Given the description of an element on the screen output the (x, y) to click on. 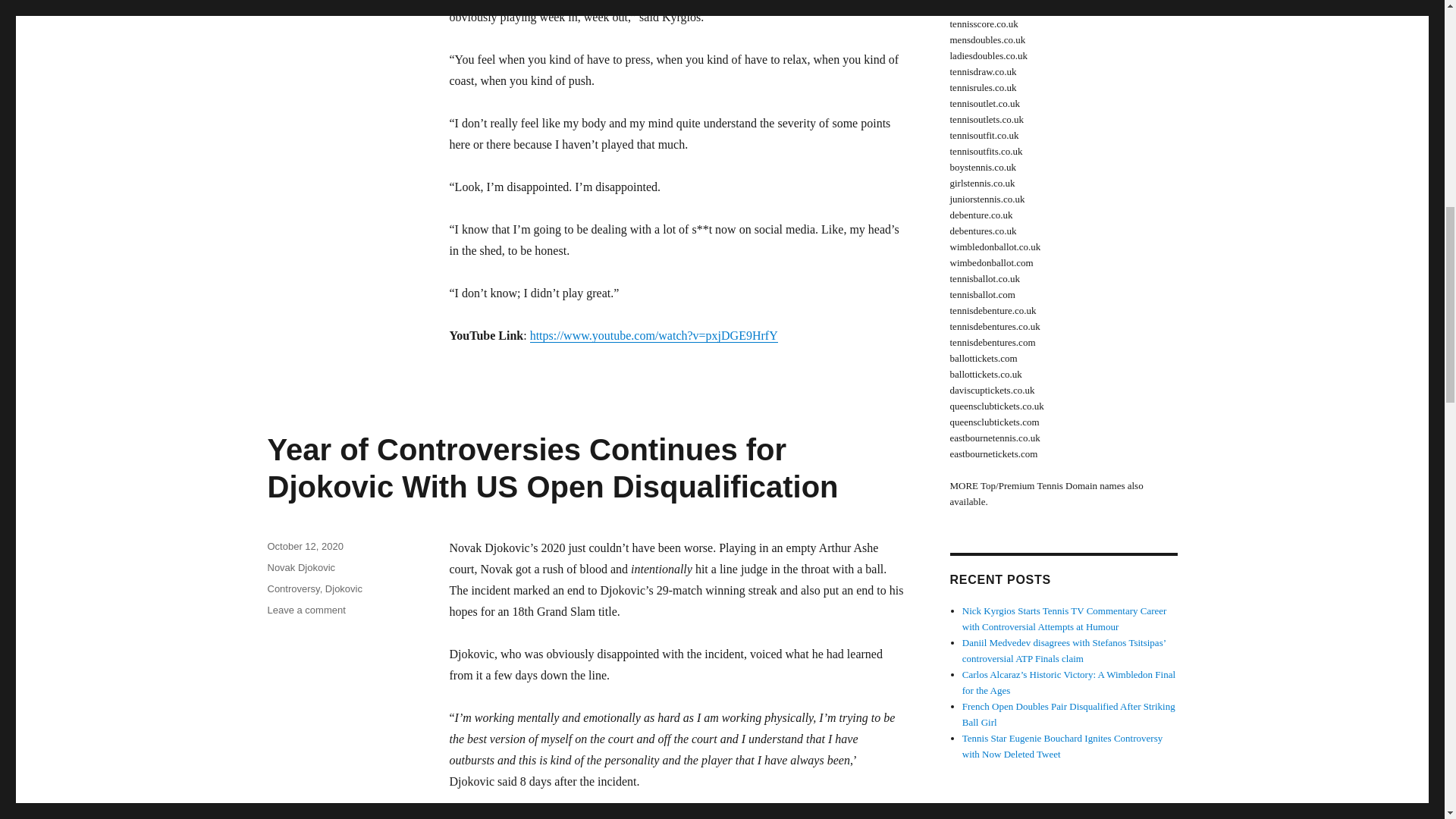
October 12, 2020 (304, 546)
Novak Djokovic (300, 567)
Djokovic (343, 588)
Controversy (292, 588)
